Given the description of an element on the screen output the (x, y) to click on. 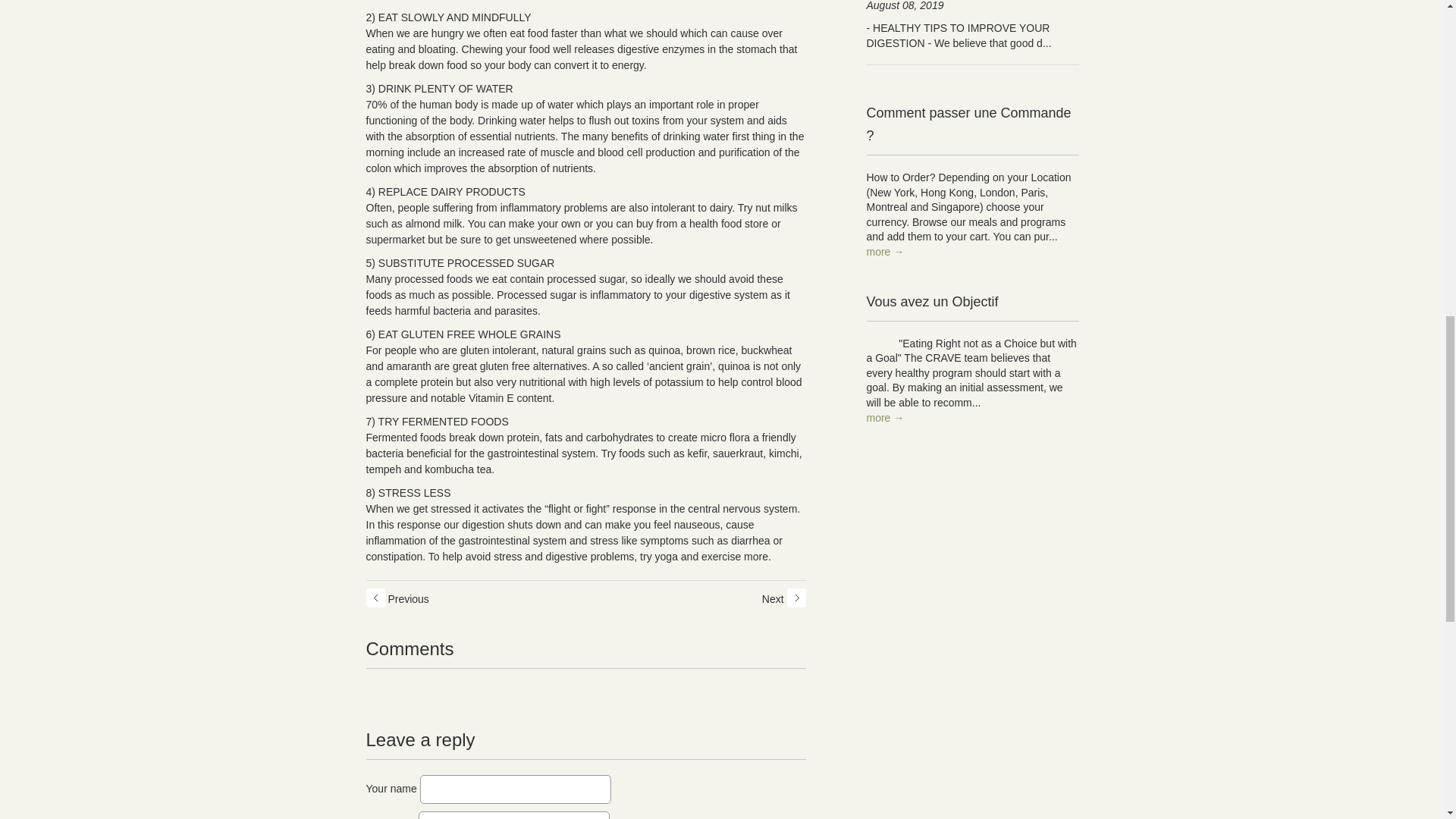
Comment passer une Commande ? (972, 135)
Vous avez un Objectif (972, 312)
